Given the description of an element on the screen output the (x, y) to click on. 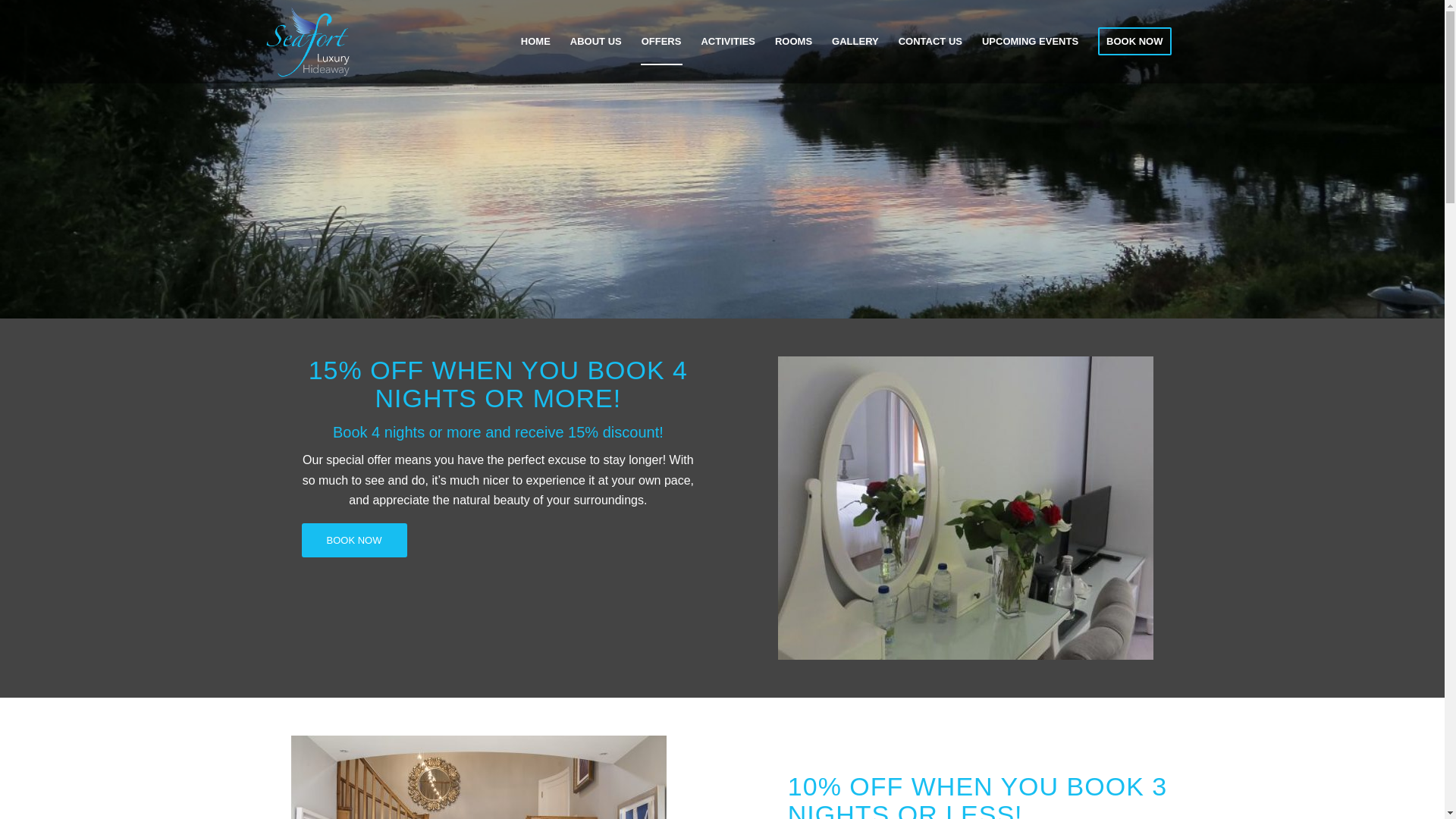
UPCOMING EVENTS (1029, 41)
CONTACT US (930, 41)
ABOUT US (595, 41)
BOOK NOW (1133, 41)
OFFERS (661, 41)
ACTIVITIES (727, 41)
GALLERY (855, 41)
HOME (535, 41)
BOOK NOW (354, 540)
ROOMS (793, 41)
Dressing Table at Seafort Bantry (965, 508)
